Given the description of an element on the screen output the (x, y) to click on. 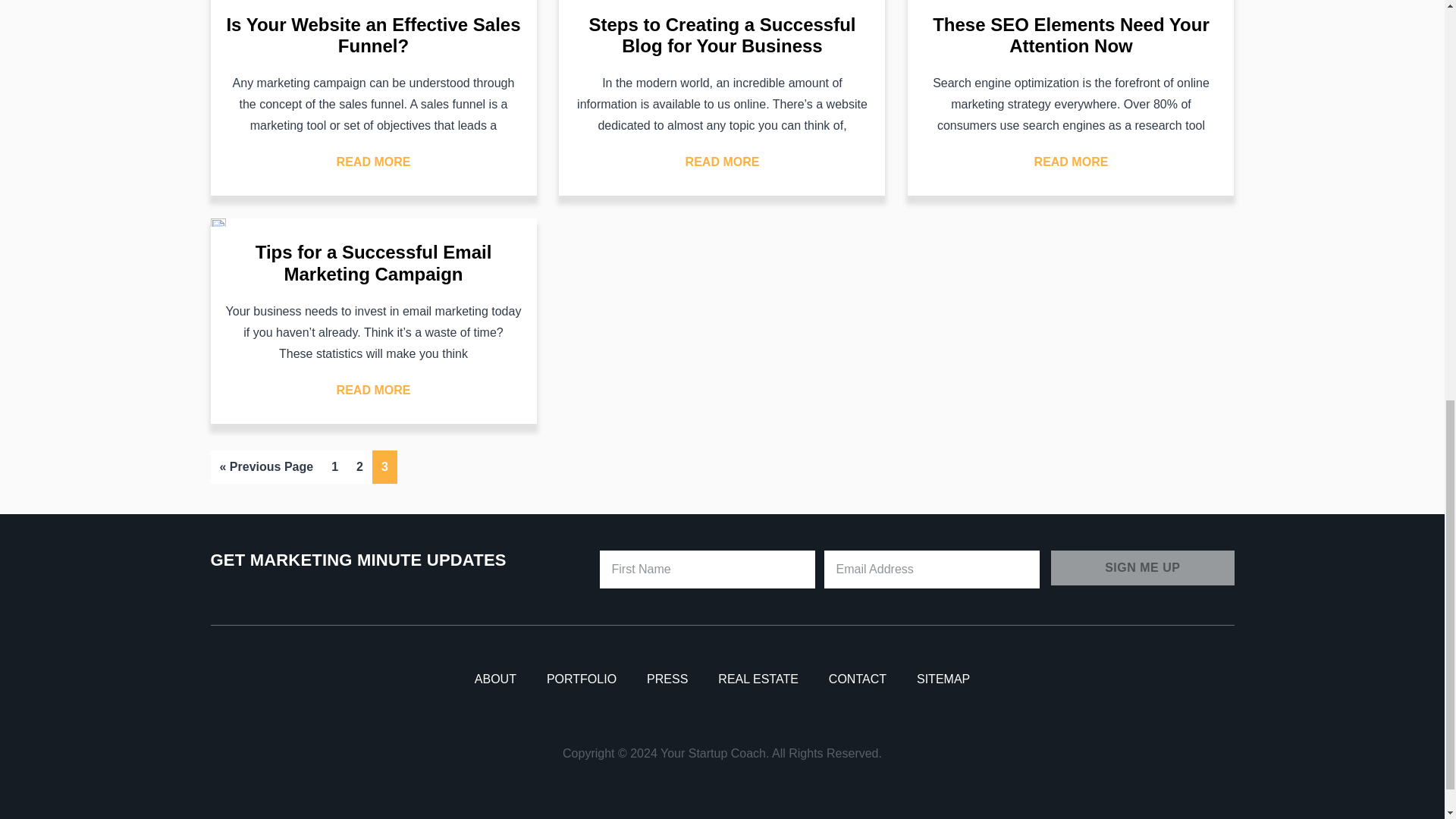
READ MORE (722, 161)
Steps to Creating a Successful Blog for Your Business (722, 35)
READ MORE (373, 161)
Is Your Website an Effective Sales Funnel? (372, 35)
